Given the description of an element on the screen output the (x, y) to click on. 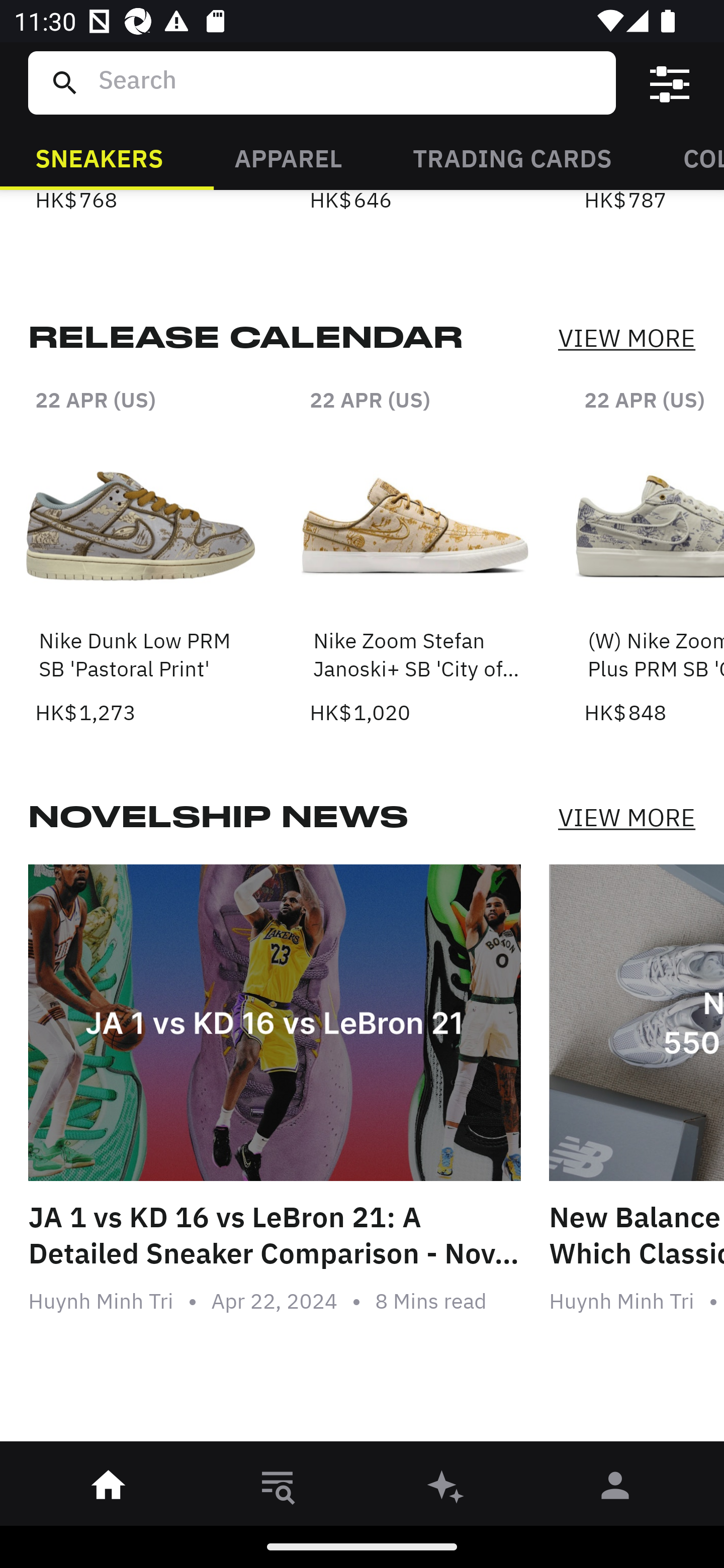
Search (349, 82)
 (669, 82)
SNEAKERS (99, 156)
APPAREL (287, 156)
TRADING CARDS (512, 156)
VIEW MORE (626, 338)
VIEW MORE (626, 816)
󰋜 (108, 1488)
󱎸 (277, 1488)
󰫢 (446, 1488)
󰀄 (615, 1488)
